Given the description of an element on the screen output the (x, y) to click on. 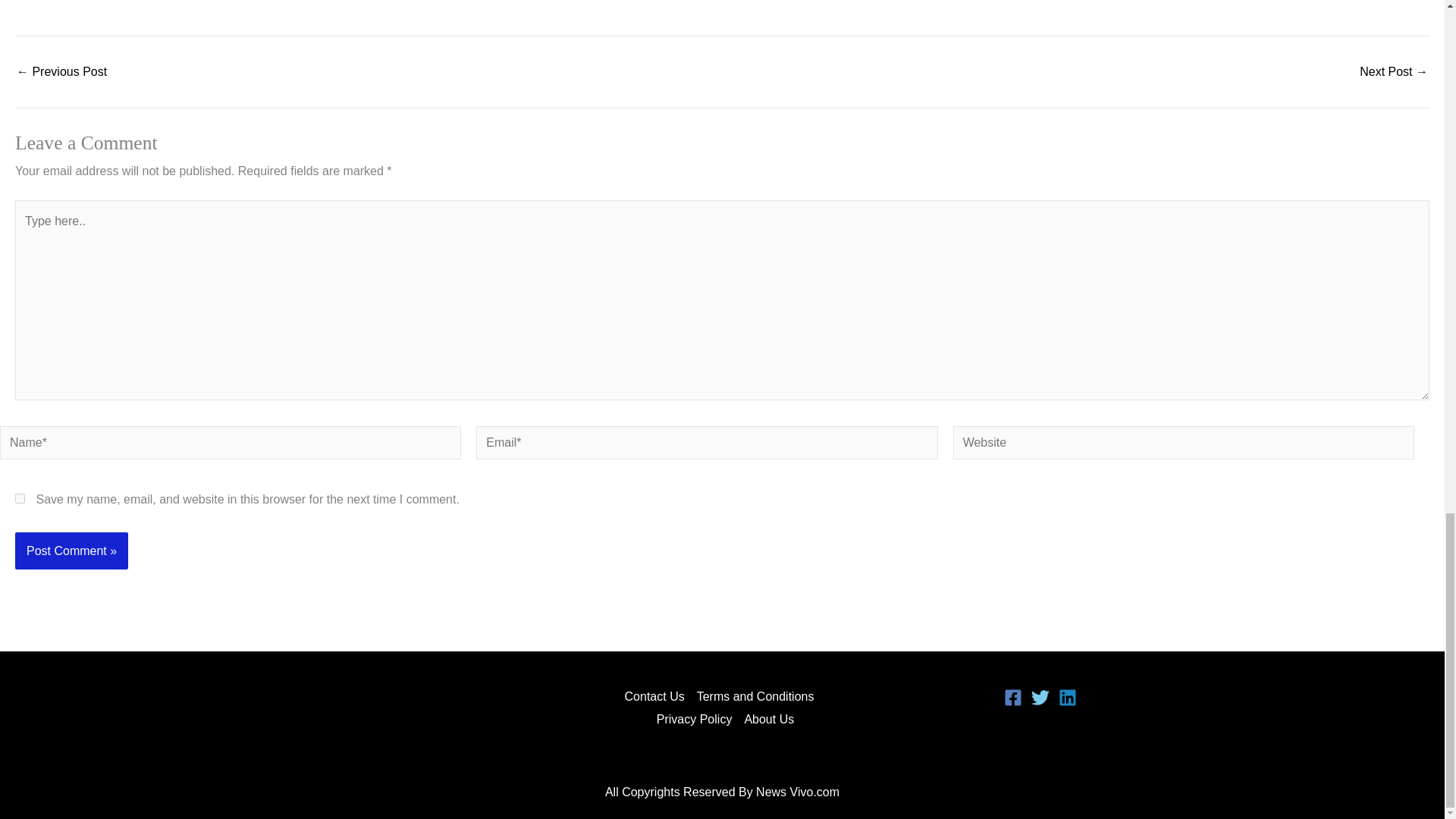
yes (19, 498)
Reduce personal income tax rates and decriminalise GST law (1393, 71)
